Given the description of an element on the screen output the (x, y) to click on. 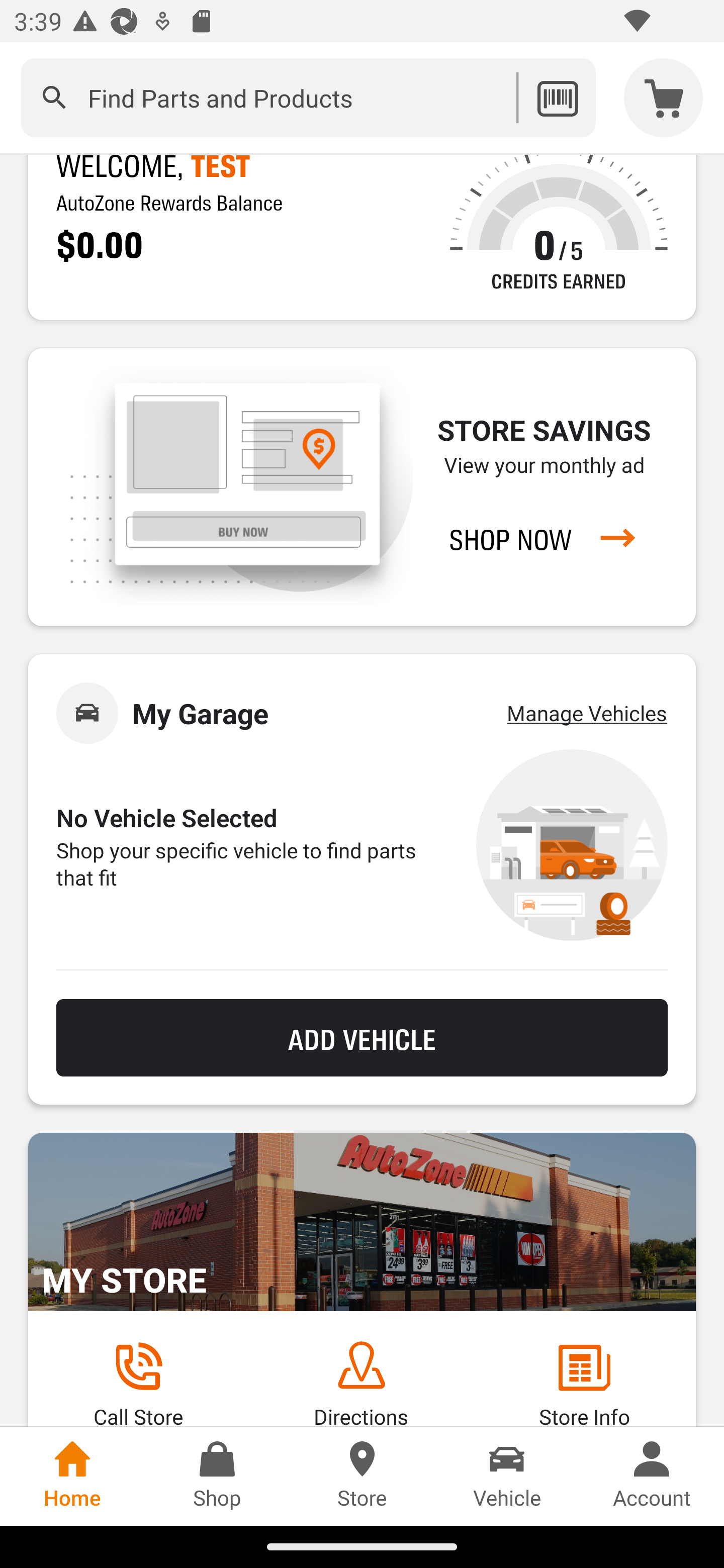
 scan-product-to-search  (557, 97)
 (54, 97)
Cart, no items  (663, 97)
Manage Vehicles (586, 713)
ADD VEHICLE (361, 1037)
Call Store  Call Store (138, 1382)
Directions  Directions (361, 1382)
Store Info  Store Info (584, 1382)
Home (72, 1475)
Shop (216, 1475)
Store (361, 1475)
Vehicle (506, 1475)
Account (651, 1475)
